Given the description of an element on the screen output the (x, y) to click on. 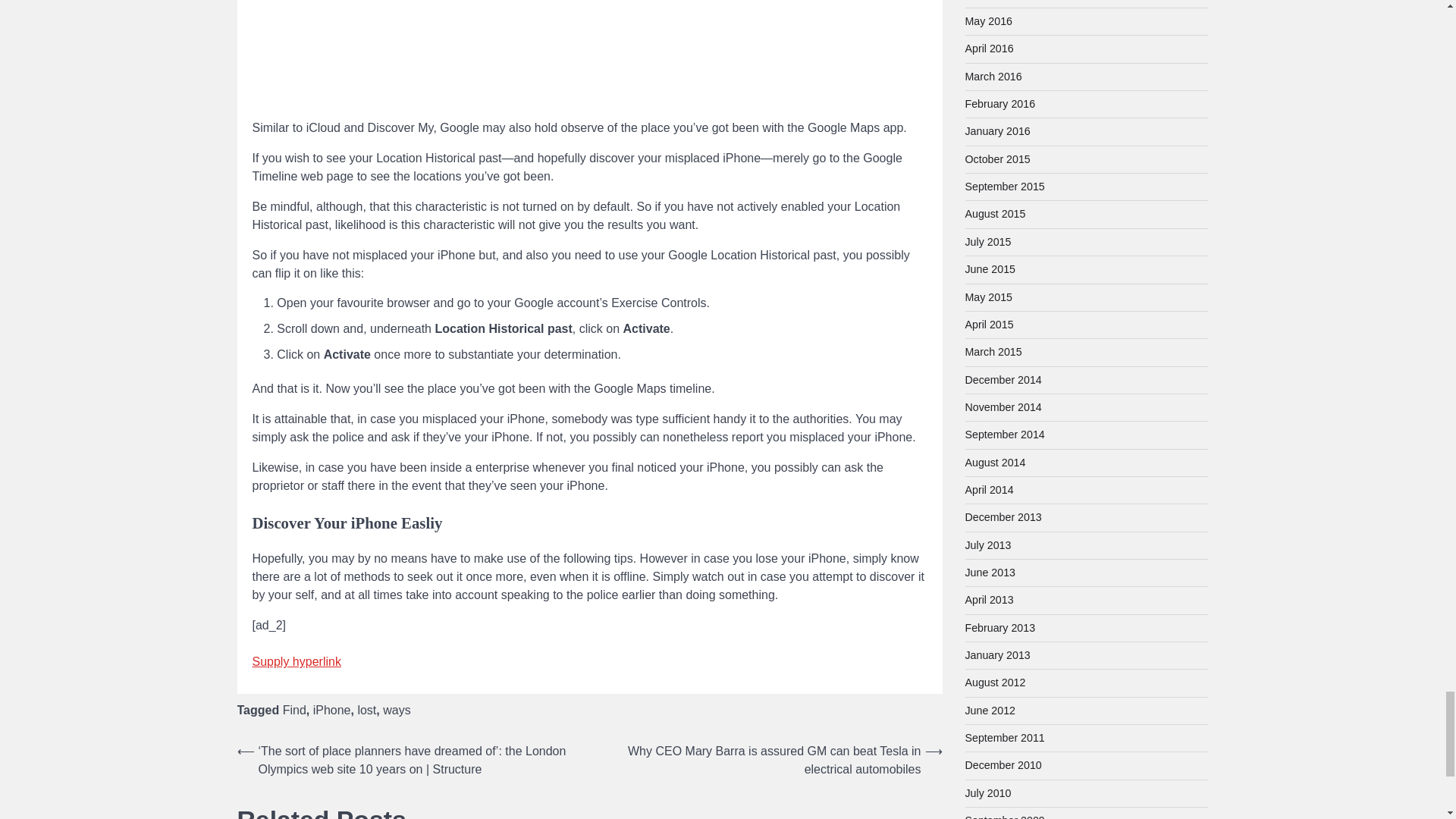
iPhone (331, 709)
ways (396, 709)
Supply hyperlink (295, 661)
lost (365, 709)
Find (293, 709)
